Given the description of an element on the screen output the (x, y) to click on. 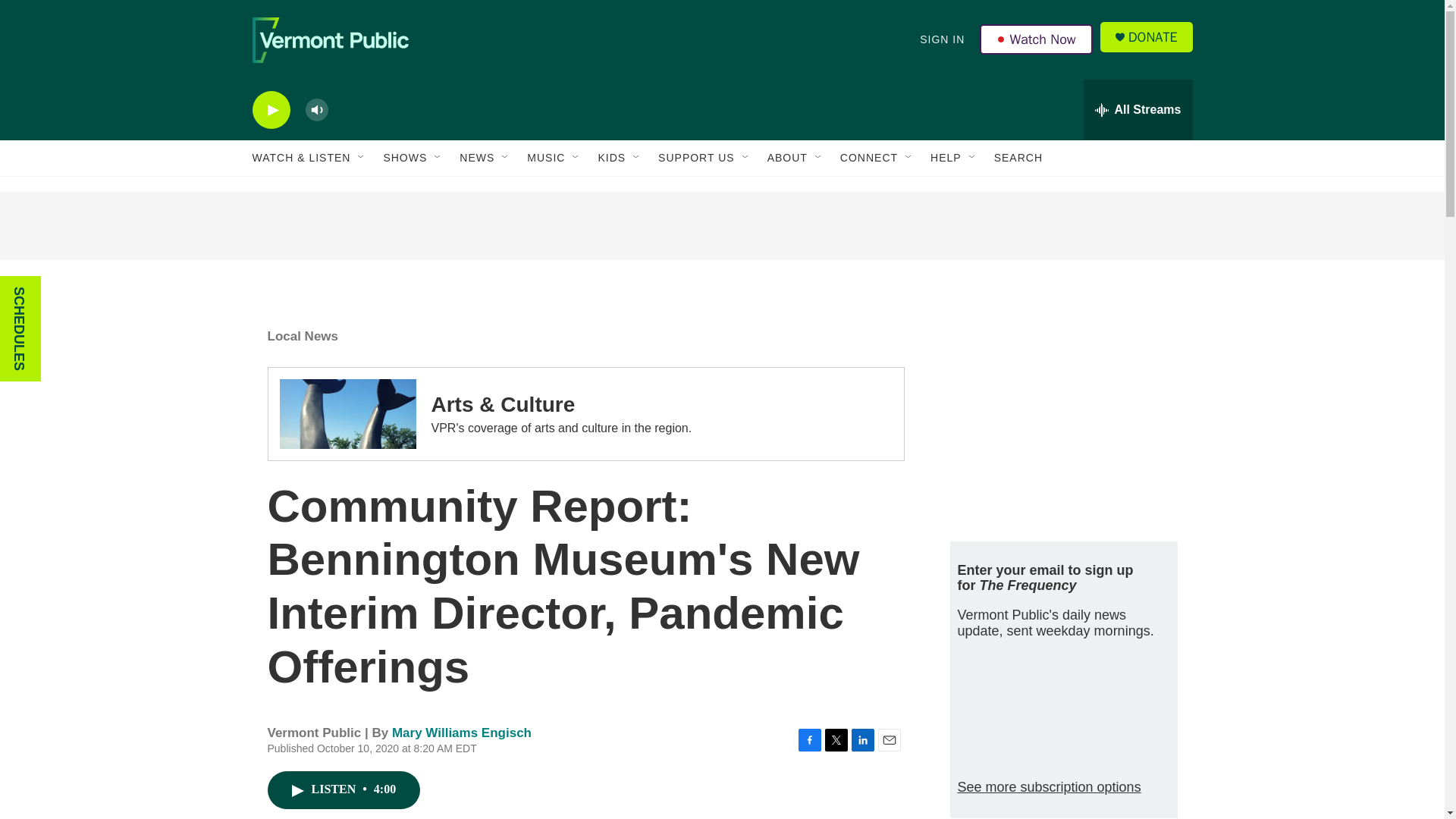
3rd party ad content (721, 225)
3rd party ad content (1062, 416)
